Given the description of an element on the screen output the (x, y) to click on. 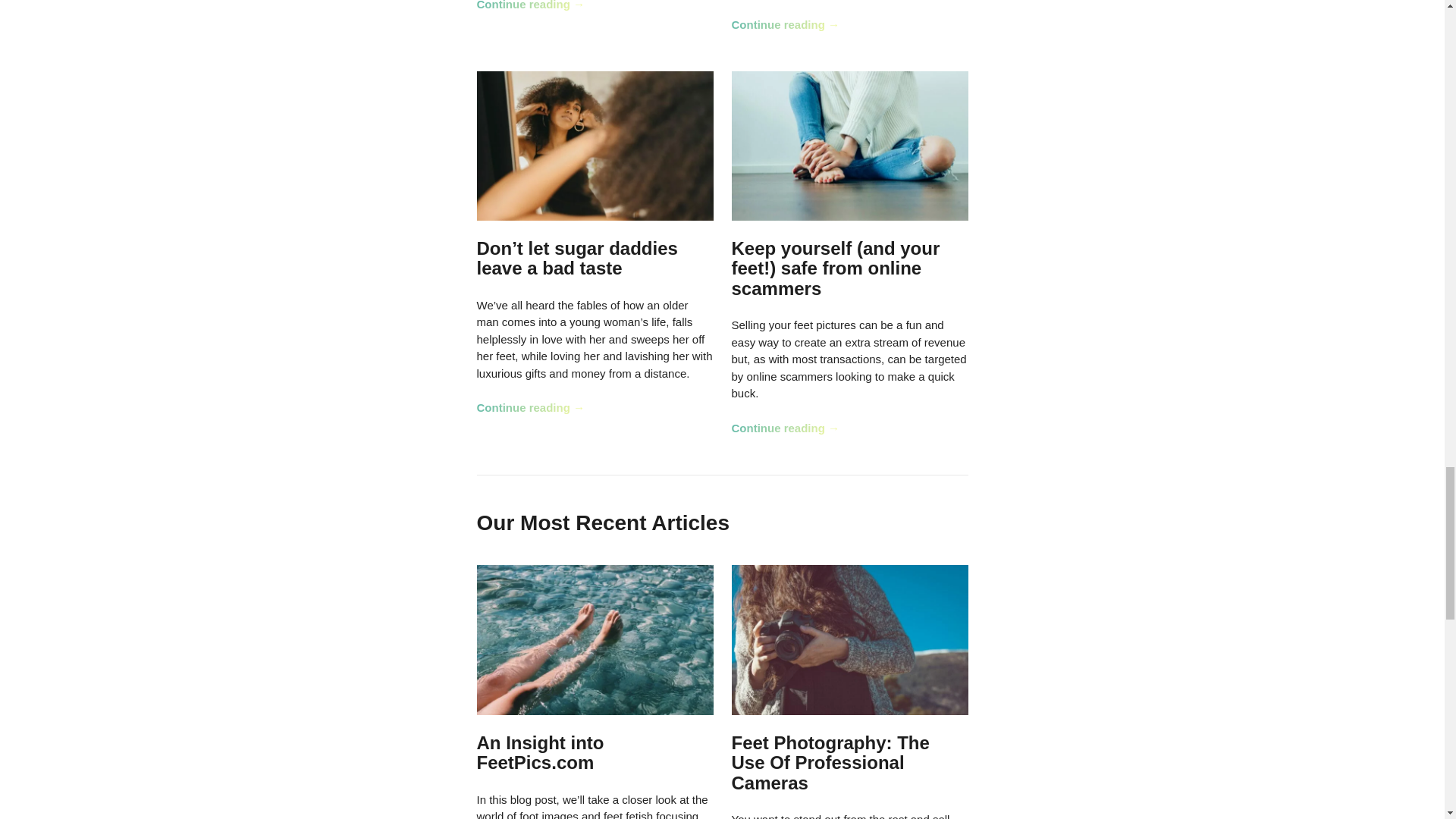
An Insight into FeetPics.com (540, 752)
Feet Photography: The Use Of Professional Cameras (829, 762)
